Given the description of an element on the screen output the (x, y) to click on. 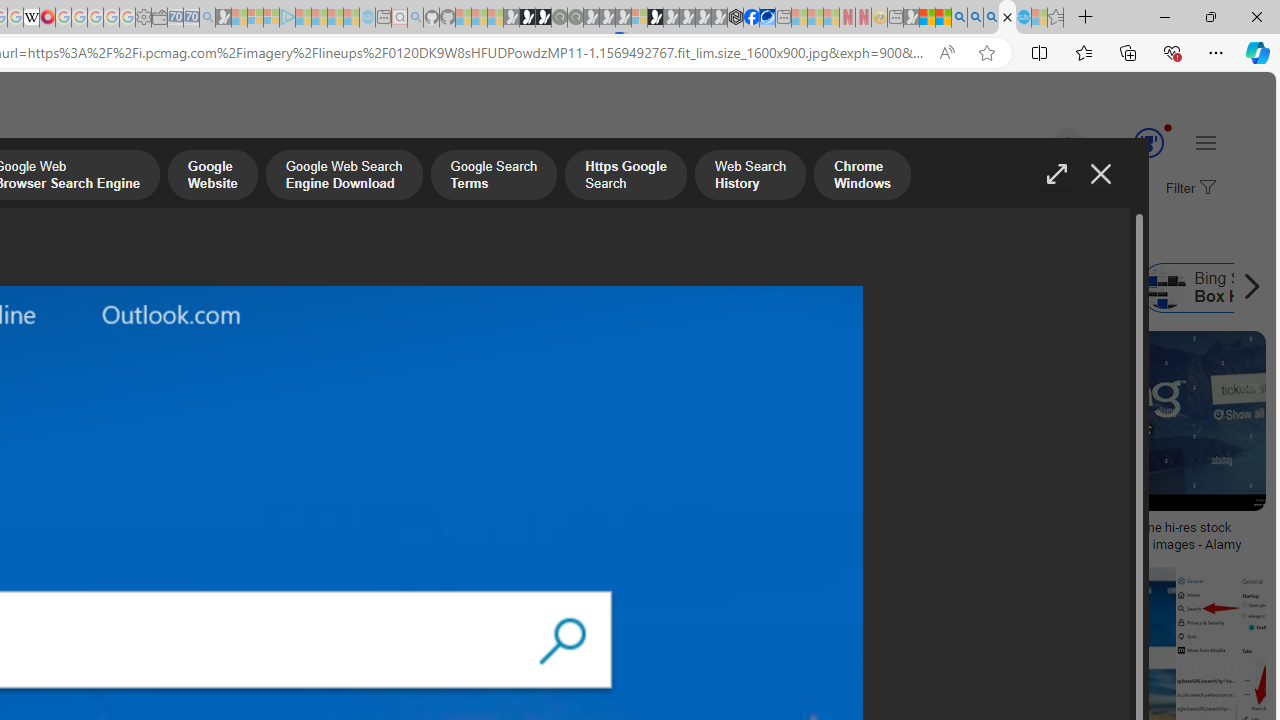
Eugene (1041, 143)
Who Made Bing Search Engine (516, 287)
Bing Search Engine Homepage (658, 287)
Animation (1167, 127)
Image result for Bing Search Site (1221, 611)
Image result for Bing Search Site (1154, 421)
Bing Web (910, 287)
Future Focus Report 2024 - Sleeping (575, 17)
